Given the description of an element on the screen output the (x, y) to click on. 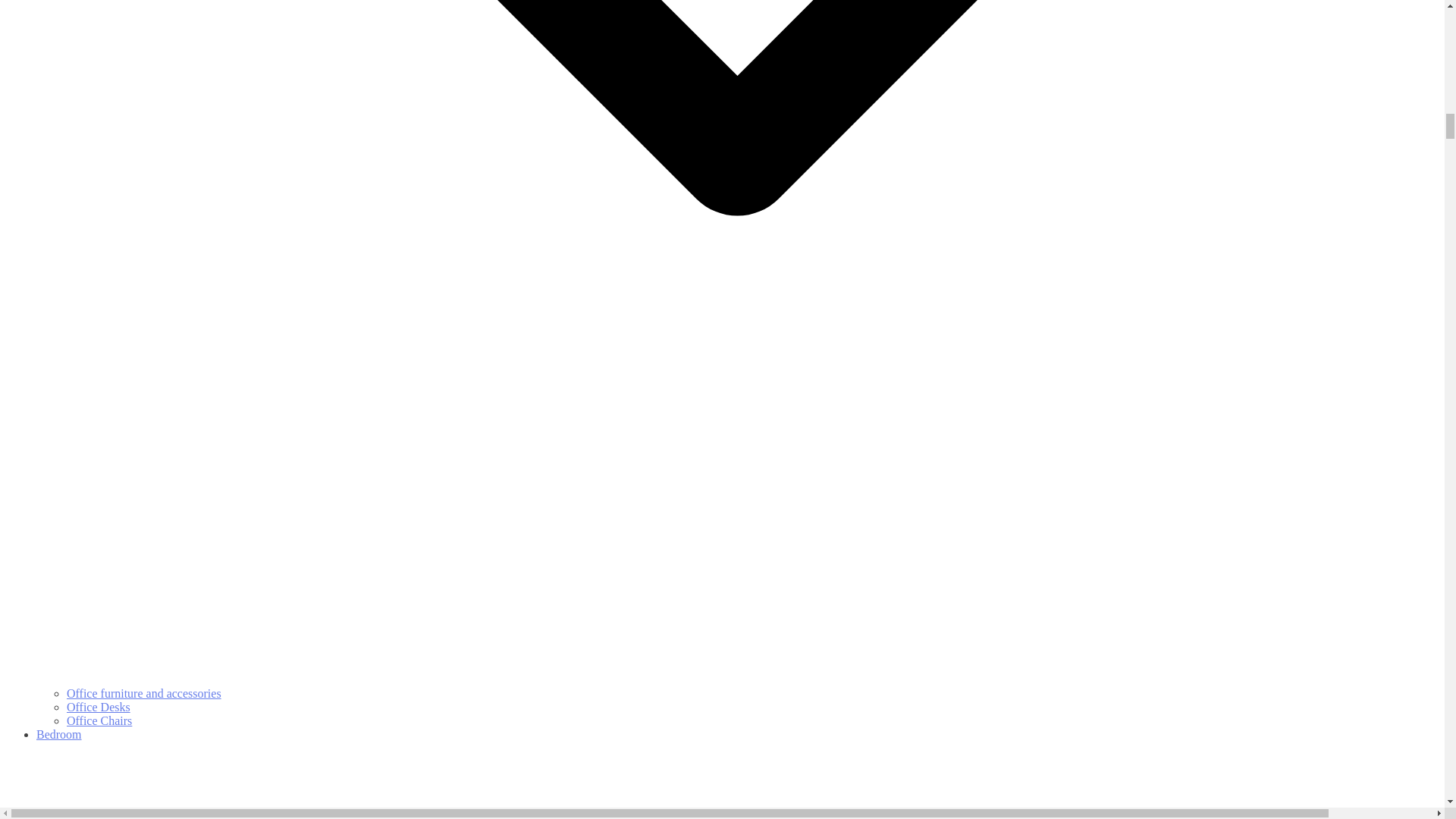
Office furniture and accessories (143, 693)
Office Chairs (99, 720)
Bedroom (737, 773)
Office Desks (98, 707)
